Given the description of an element on the screen output the (x, y) to click on. 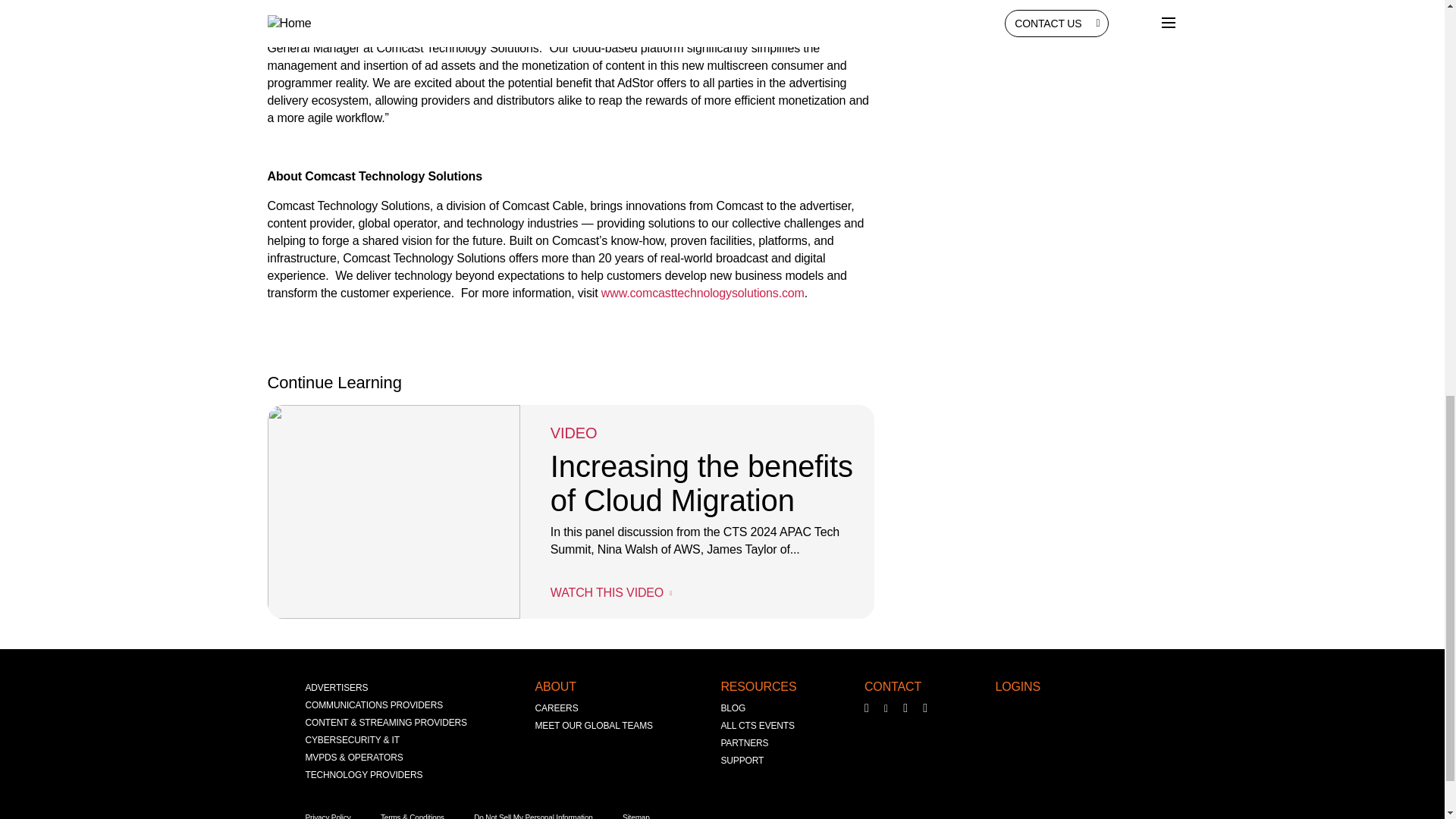
TECHNOLOGY PROVIDERS (363, 774)
MEET OUR GLOBAL TEAMS (593, 725)
CAREERS (556, 708)
RESOURCES (758, 686)
Increasing the benefits of Cloud Migration (701, 488)
WATCH THIS VIDEO (610, 592)
BLOG (732, 708)
ADVERTISERS (336, 687)
www.comcasttechnologysolutions.com (703, 292)
ABOUT (555, 686)
COMMUNICATIONS PROVIDERS (373, 705)
